Given the description of an element on the screen output the (x, y) to click on. 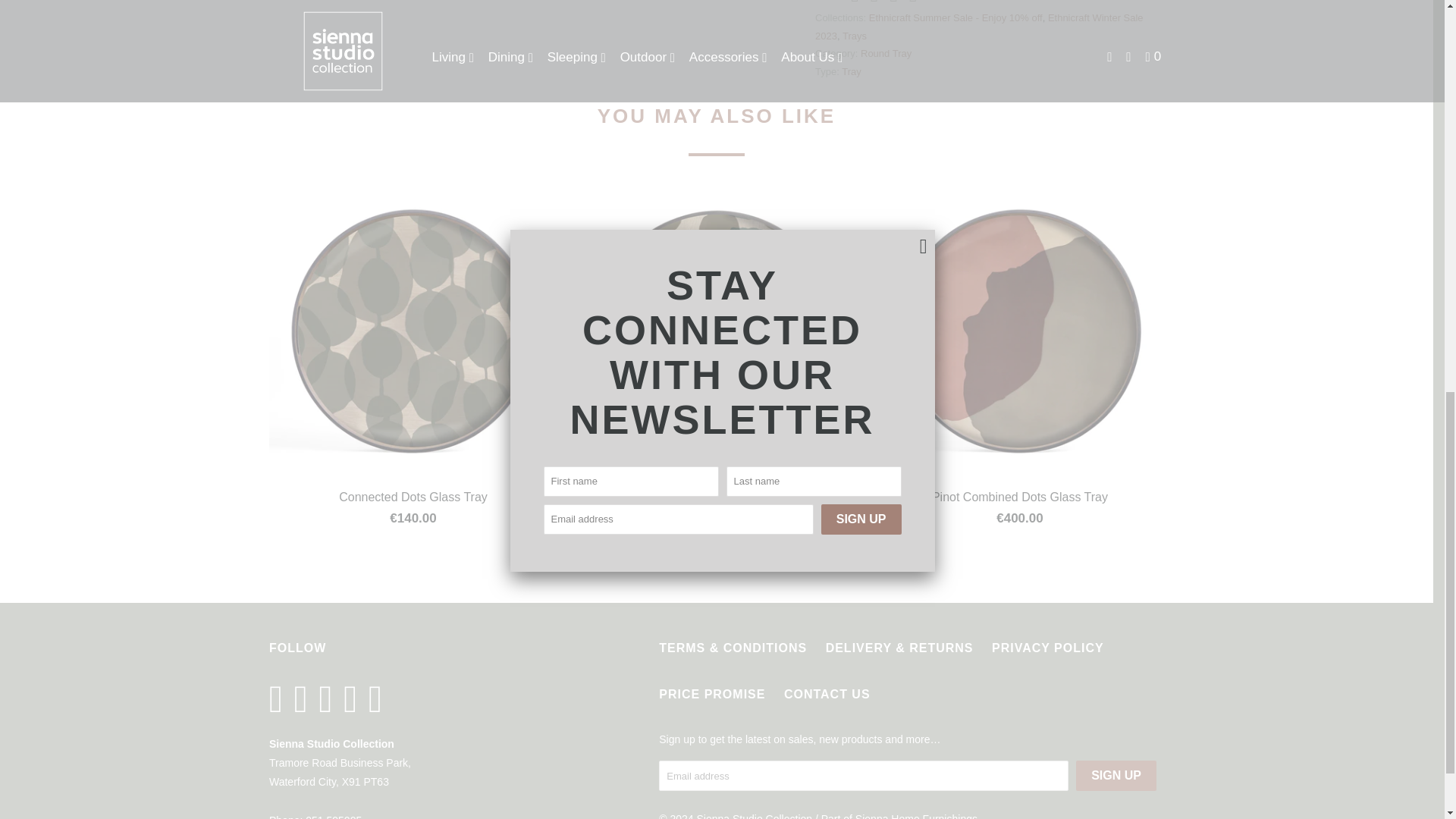
Share this on Twitter (853, 2)
Sign Up (1115, 775)
Email this to a friend (911, 2)
Share this on Pinterest (891, 2)
Share this on Facebook (872, 2)
